Given the description of an element on the screen output the (x, y) to click on. 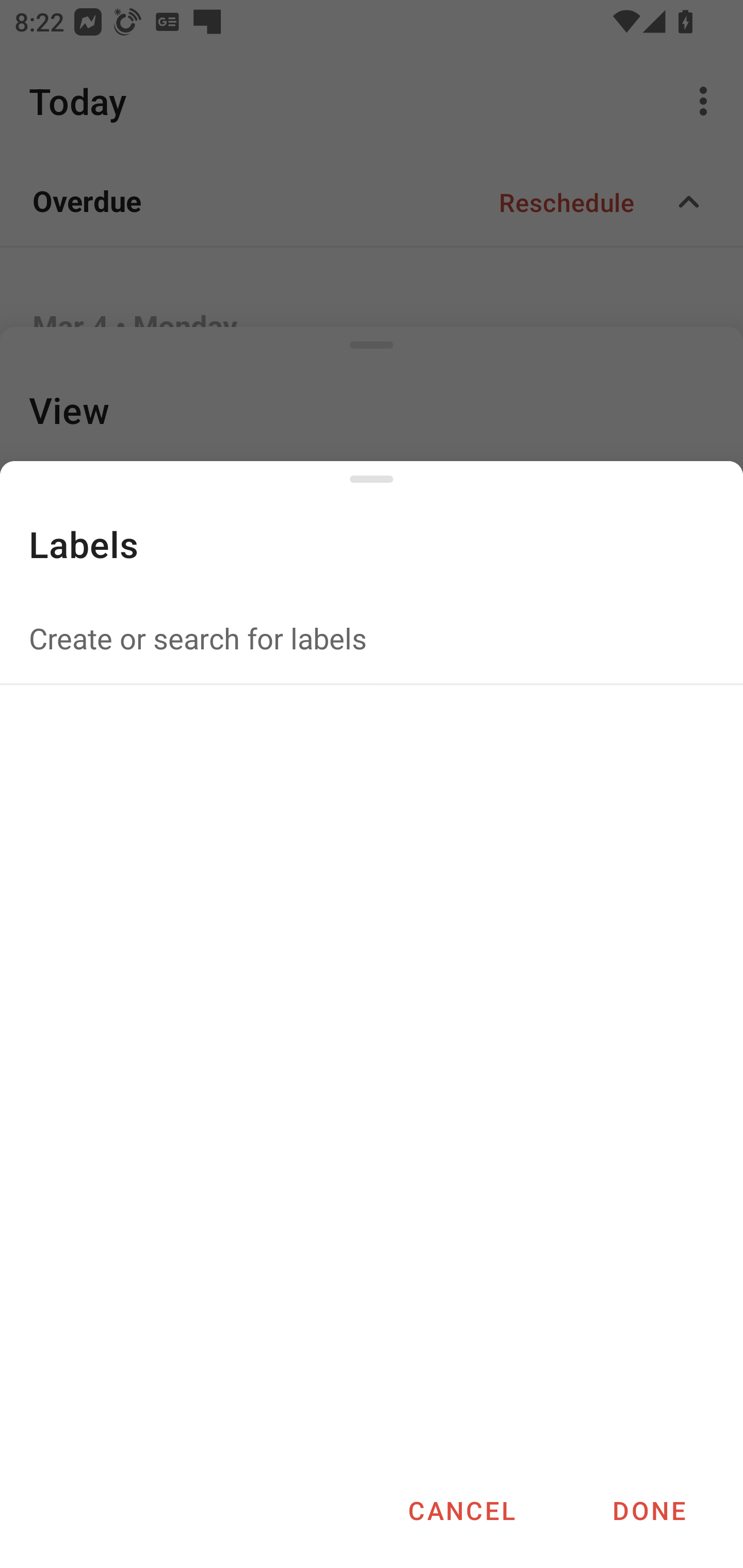
Create or search for labels (371, 638)
CANCEL (460, 1510)
DONE (648, 1510)
